Given the description of an element on the screen output the (x, y) to click on. 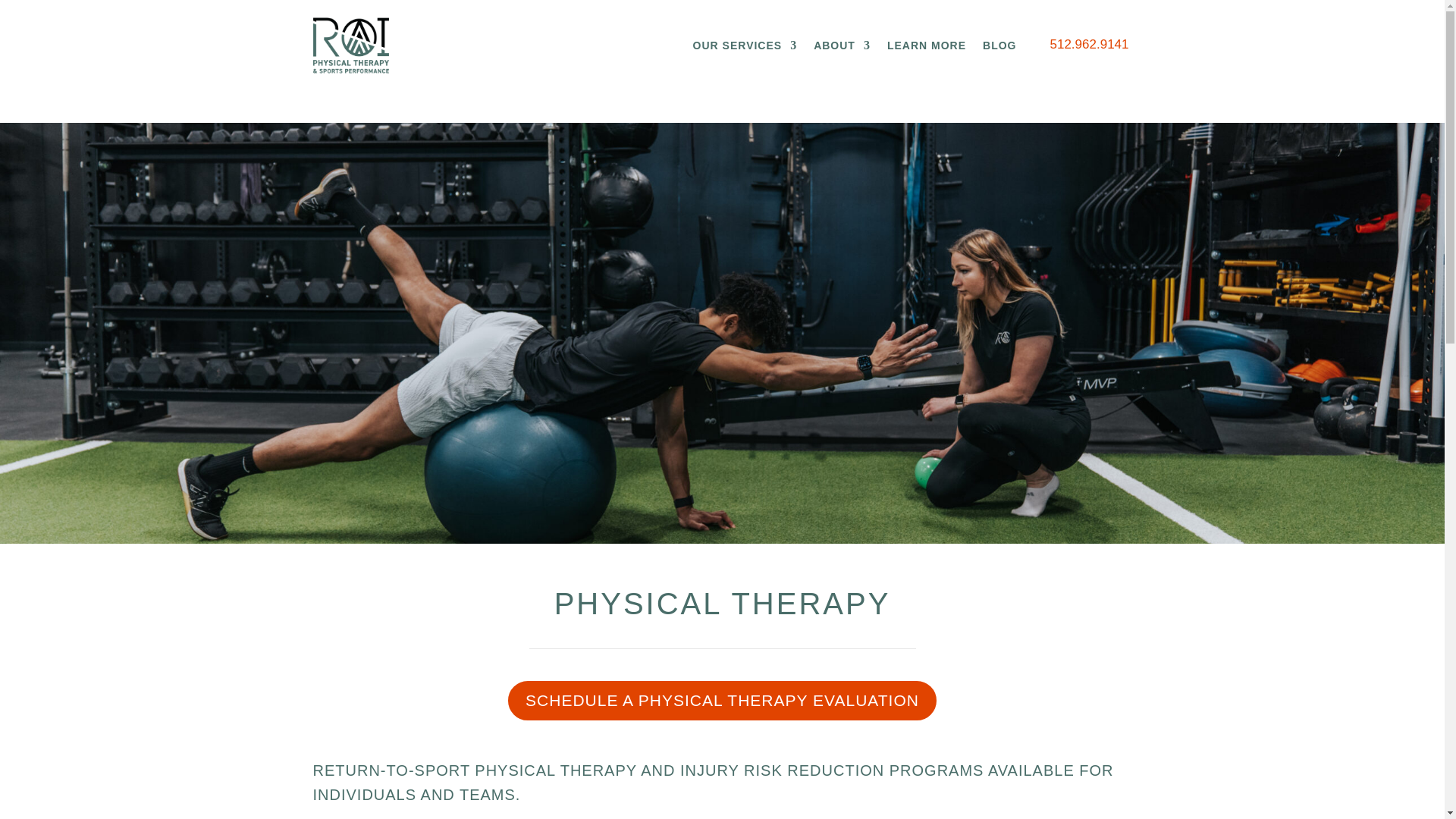
ROI New Logo (350, 45)
ABOUT (841, 47)
BLOG (999, 47)
OUR SERVICES (745, 47)
LEARN MORE (926, 47)
